Given the description of an element on the screen output the (x, y) to click on. 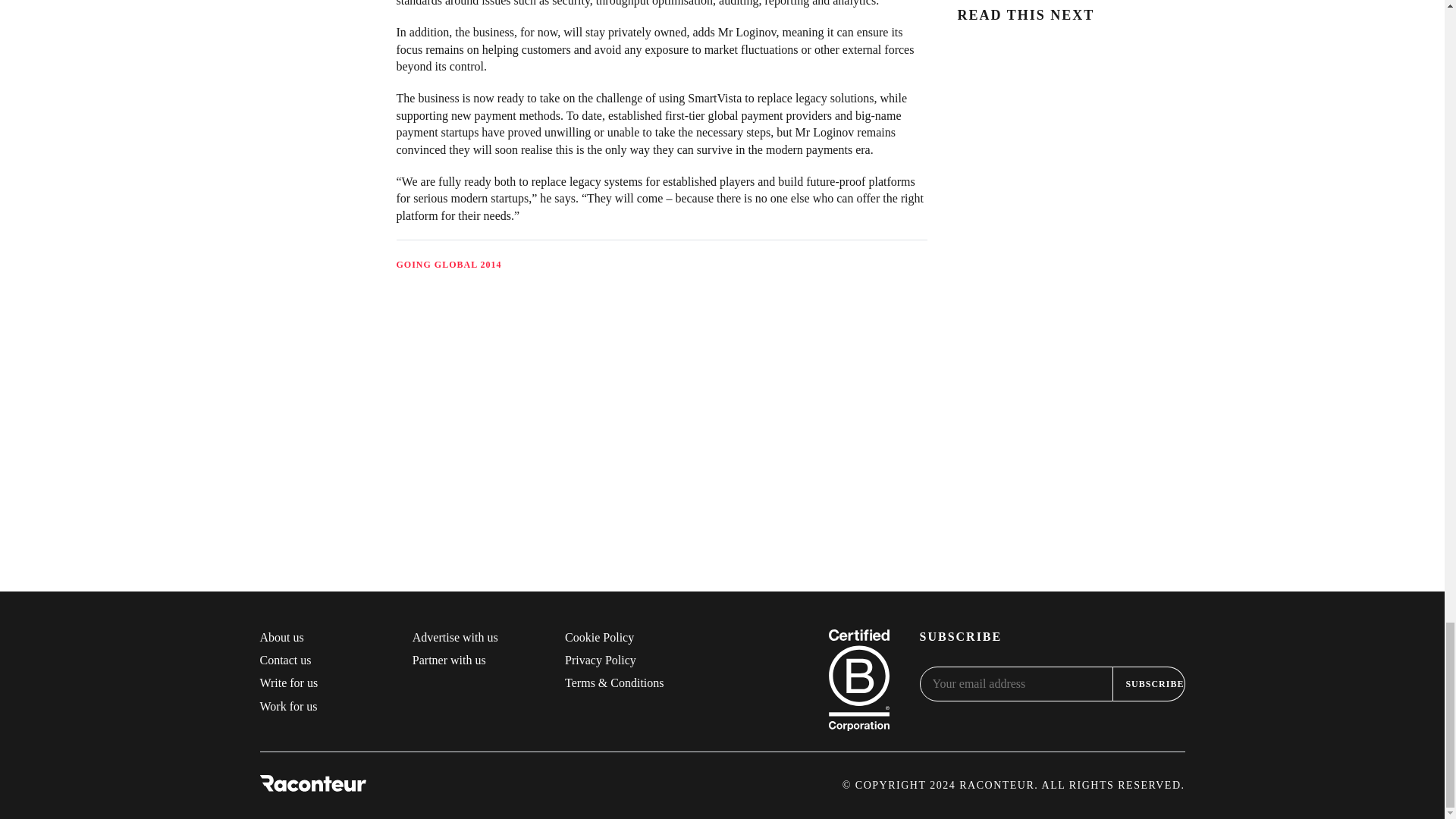
About us (280, 635)
Privacy Policy (600, 659)
Subscribe (1149, 683)
Contact us (285, 659)
GOING GLOBAL 2014 (448, 264)
Subscribe (1149, 683)
Partner with us (449, 659)
Cookie Policy (598, 635)
Advertise with us (454, 635)
Write for us (288, 682)
